Given the description of an element on the screen output the (x, y) to click on. 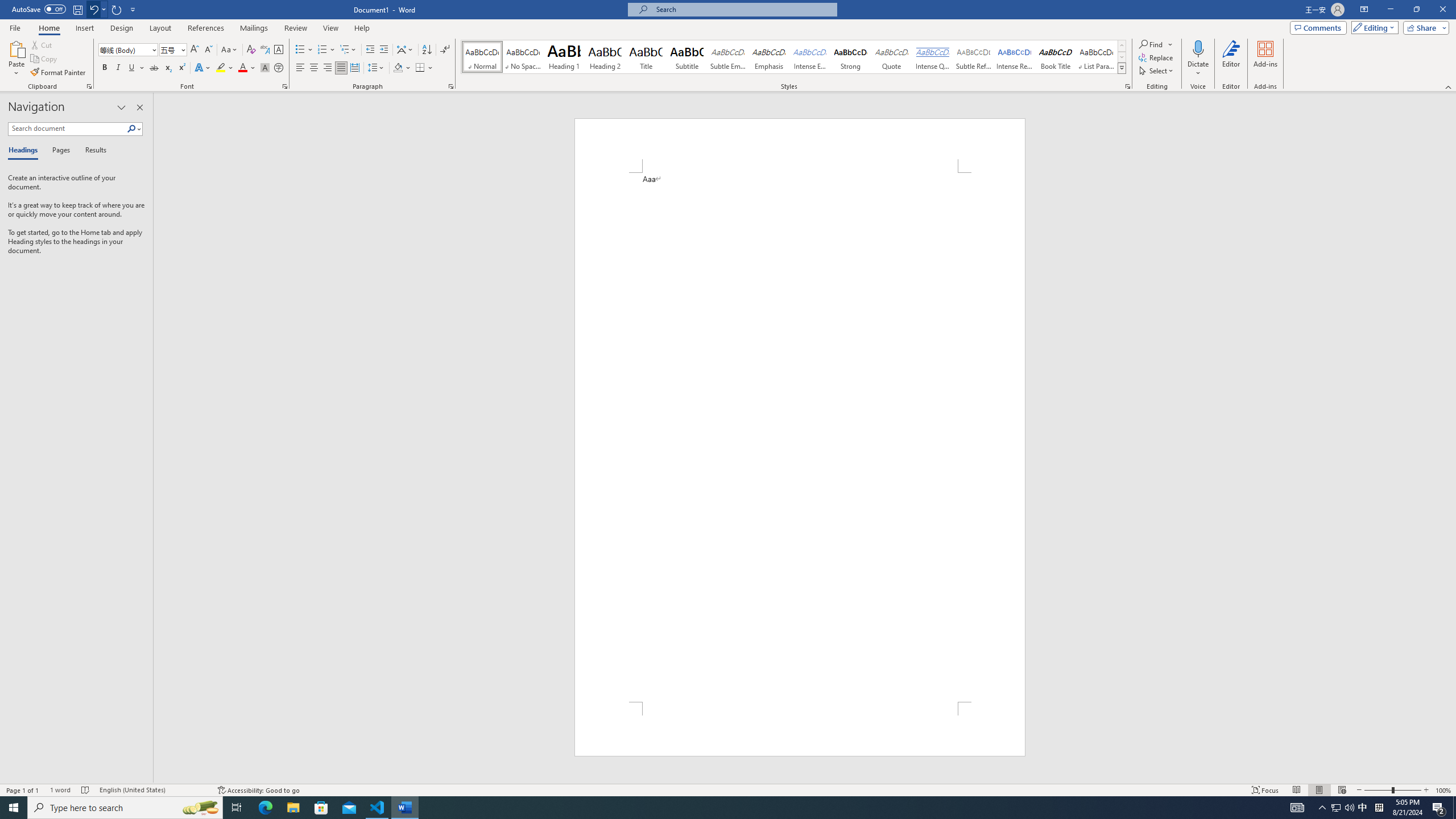
Zoom 100% (1443, 790)
Intense Emphasis (809, 56)
